Given the description of an element on the screen output the (x, y) to click on. 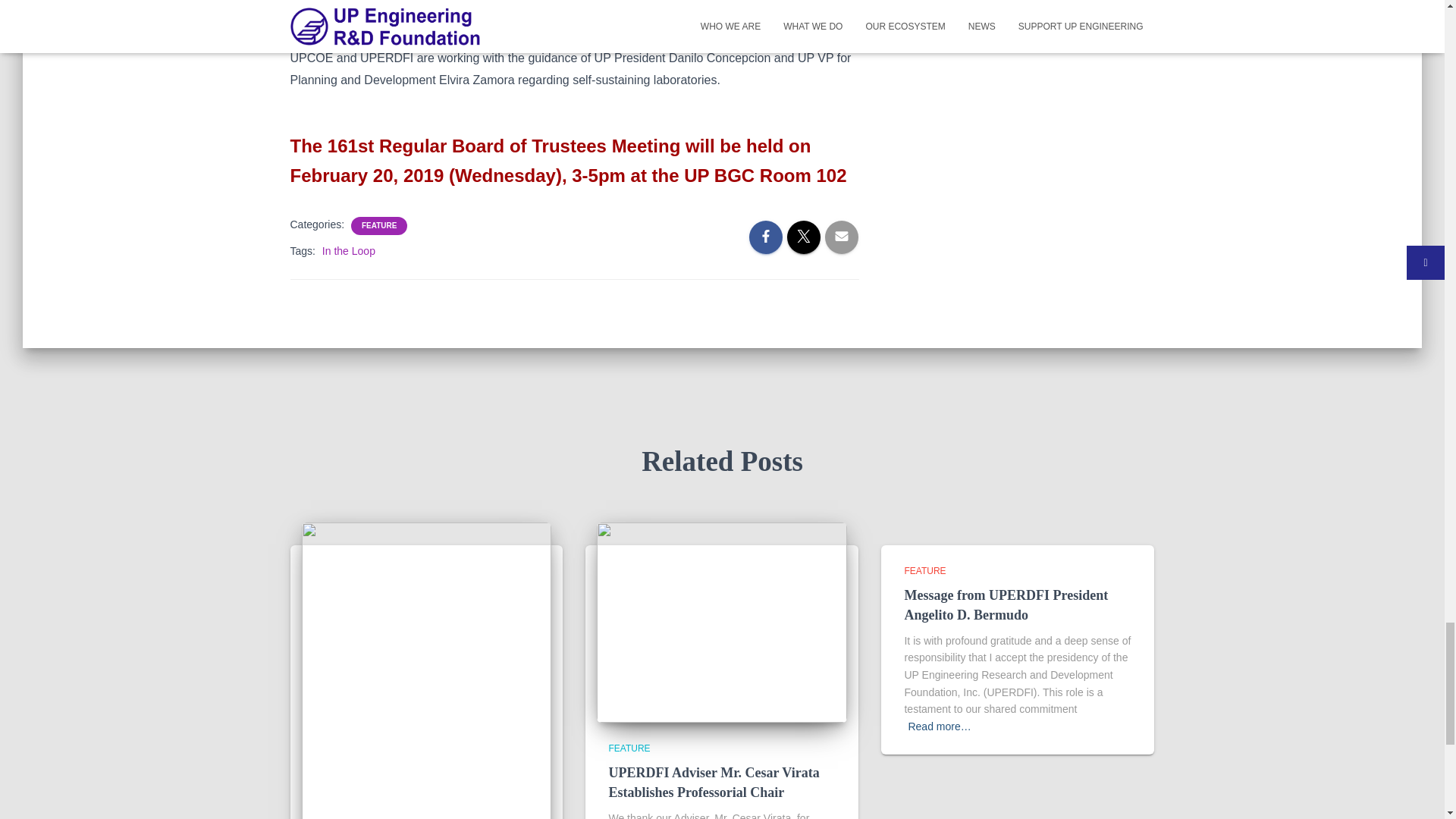
View all posts in Feature (924, 570)
Message from UPERDFI President Angelito D. Bermudo (1006, 604)
View all posts in Feature (628, 747)
FEATURE (378, 225)
In the Loop (348, 250)
